Given the description of an element on the screen output the (x, y) to click on. 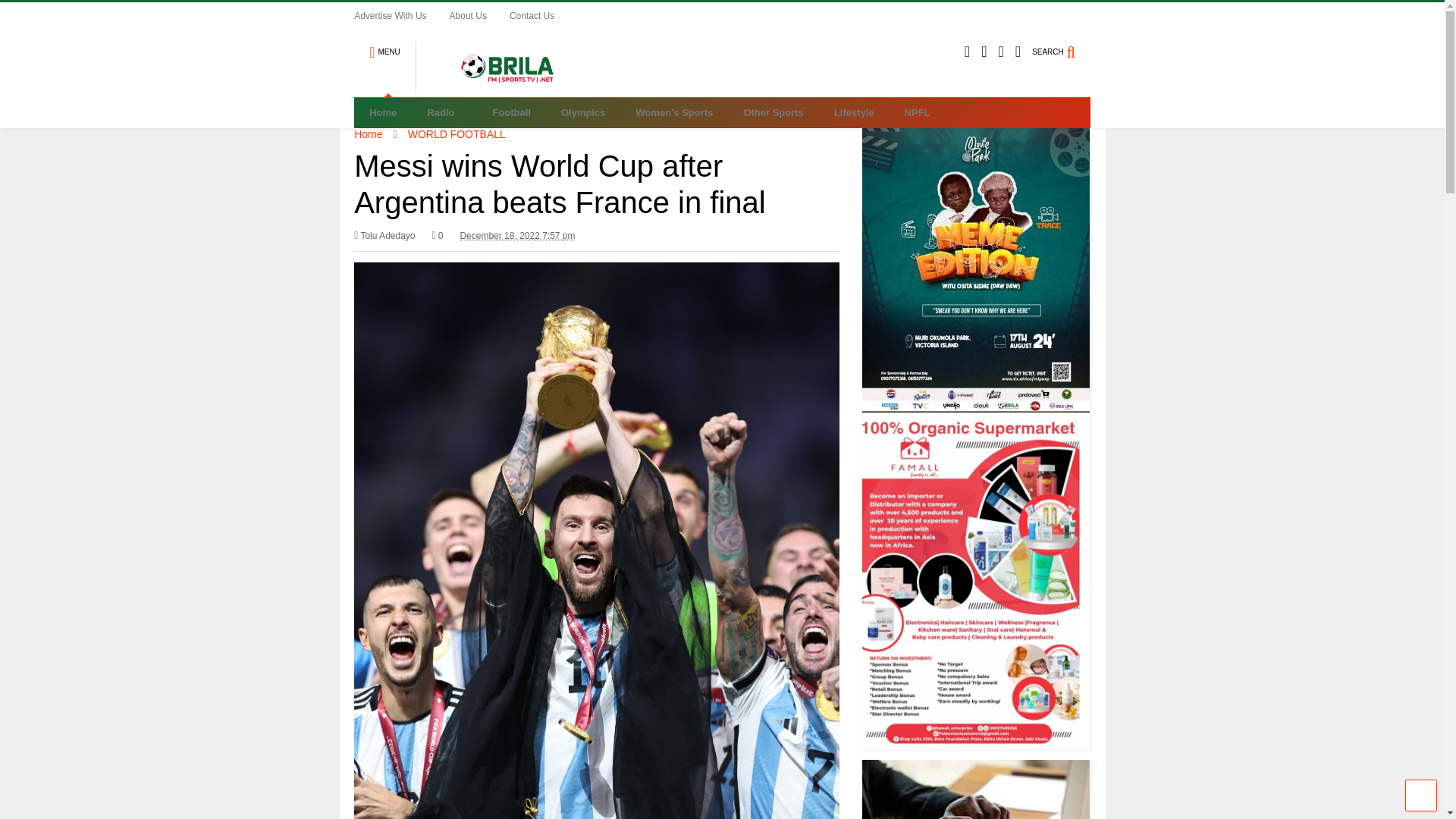
Contact Us (542, 15)
December 18, 2022 7:58 pm (517, 235)
Football (511, 112)
Other Sports (773, 112)
Advertise With Us (400, 15)
MENU (383, 45)
Latest Sports News In Nigeria (498, 84)
Radio (444, 112)
Tolu Adedayo (383, 235)
Olympics (583, 112)
